Given the description of an element on the screen output the (x, y) to click on. 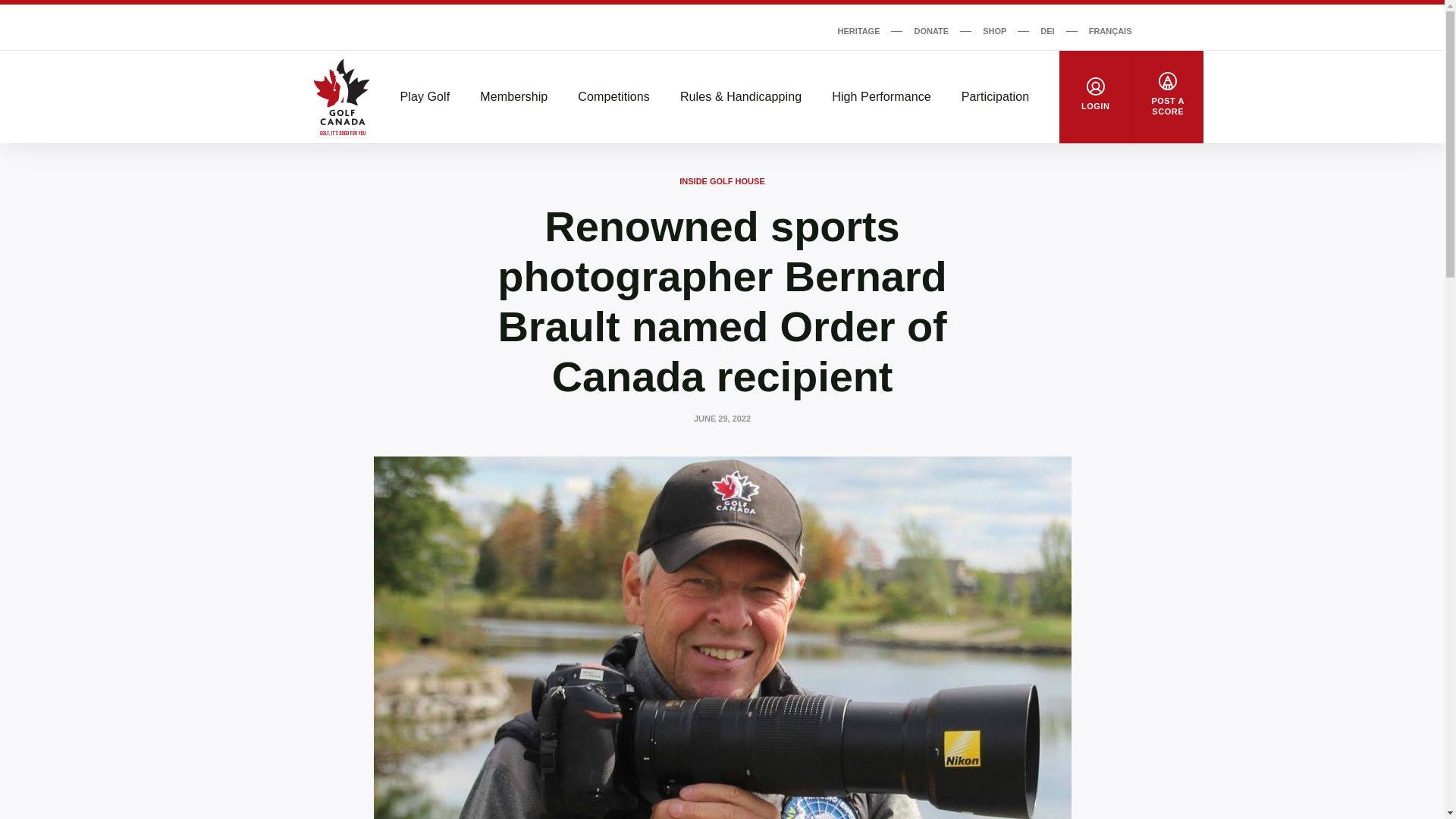
SHOP (994, 30)
Participation (994, 96)
DEI (1047, 30)
Play Golf (425, 96)
HERITAGE (858, 30)
High Performance (881, 96)
Membership (513, 96)
DONATE (931, 30)
Competitions (613, 96)
